Given the description of an element on the screen output the (x, y) to click on. 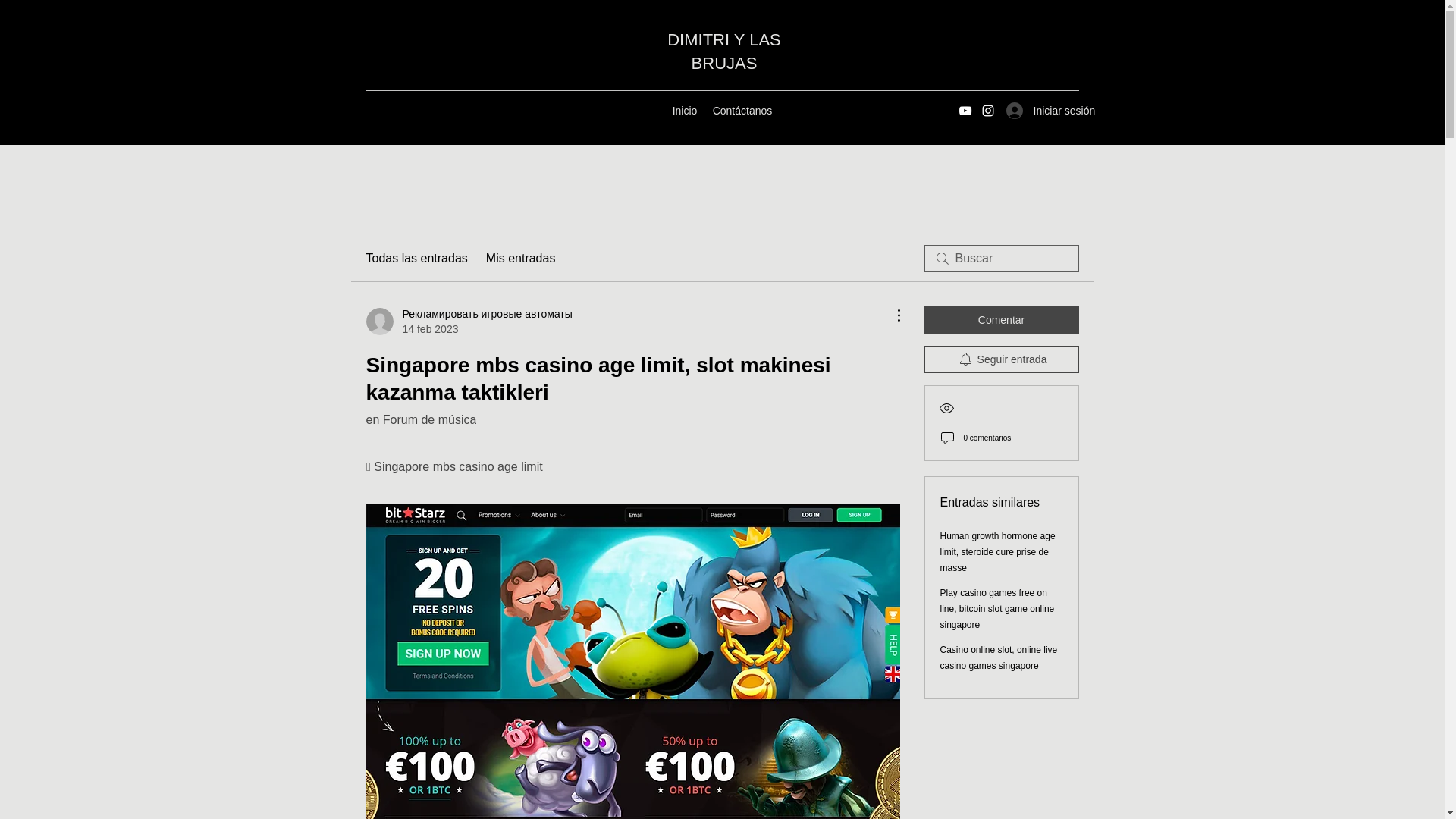
Mis entradas (521, 258)
Comentar (1000, 319)
DIMITRI Y LAS BRUJAS (723, 51)
Todas las entradas (416, 258)
Casino online slot, online live casino games singapore (999, 657)
Inicio (683, 110)
Seguir entrada (1000, 359)
Human growth hormone age limit, steroide cure prise de masse (997, 551)
